Given the description of an element on the screen output the (x, y) to click on. 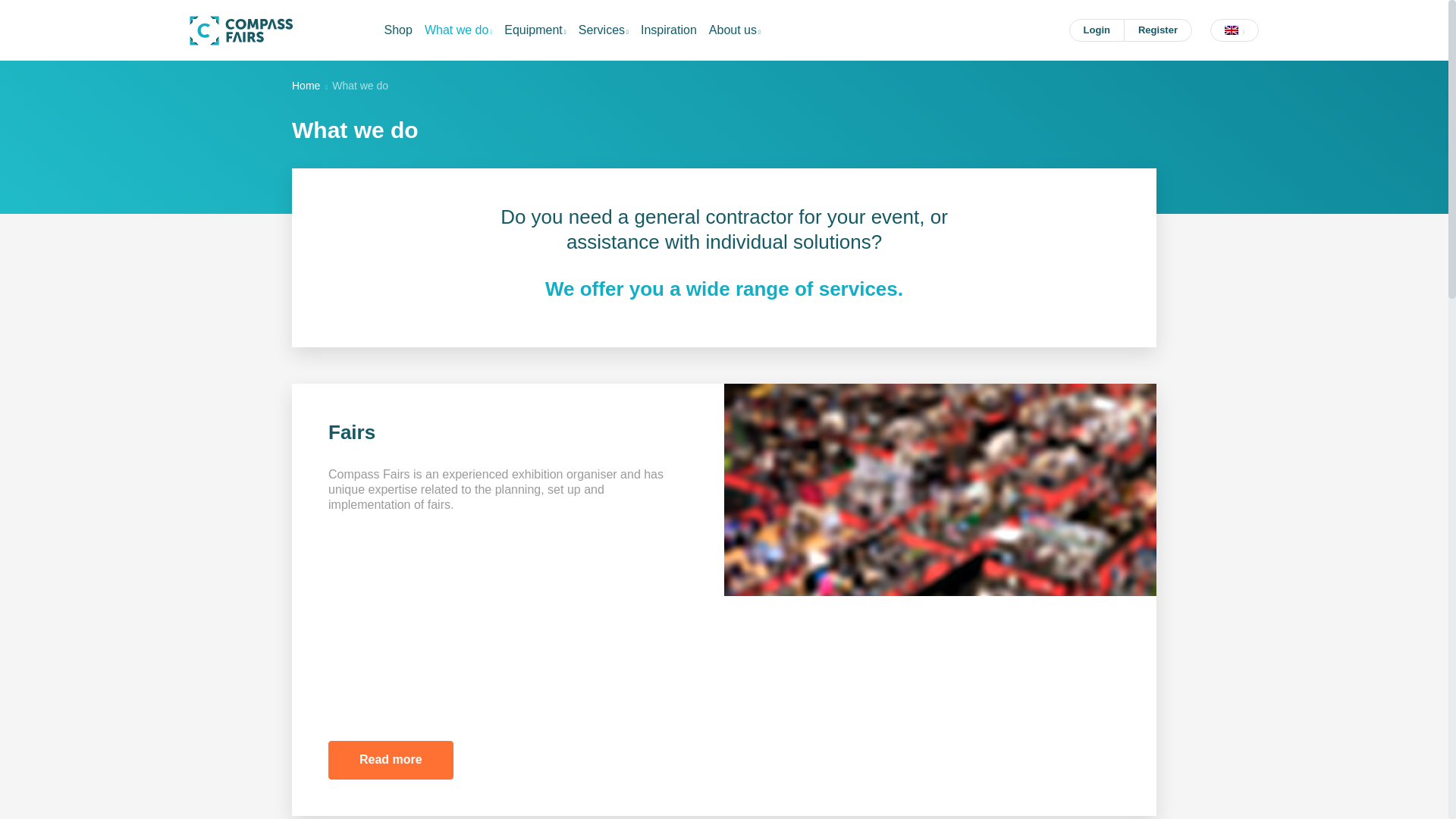
Shop (397, 30)
Inspiration (668, 30)
Register (1158, 29)
Login (1096, 29)
DINSTAND (241, 30)
About us (735, 30)
What we do (458, 30)
Services (603, 30)
Equipment (534, 30)
